Given the description of an element on the screen output the (x, y) to click on. 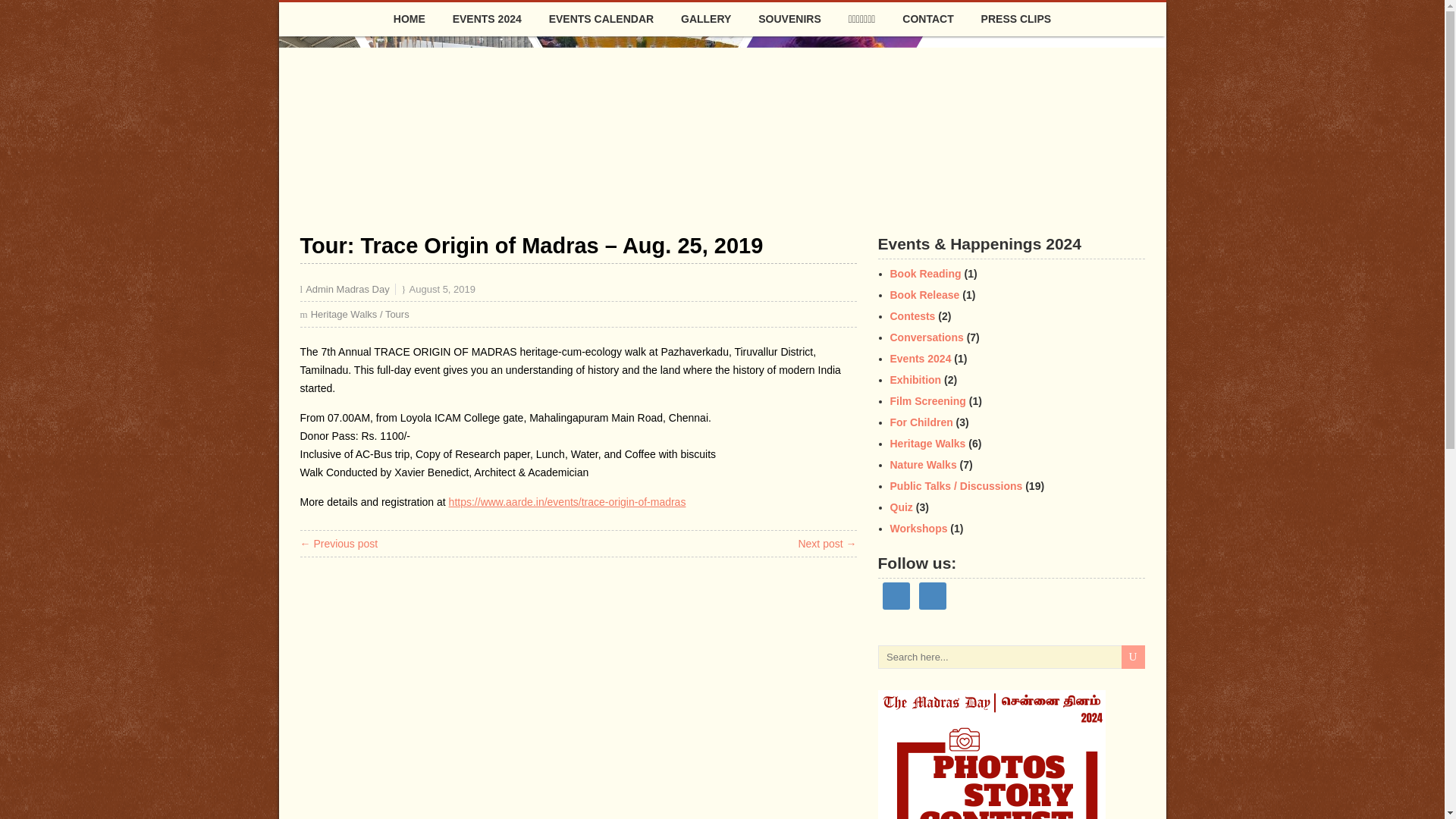
Poetry Challenge for the young - Aug. 10, 2019 (826, 543)
GALLERY (705, 19)
Posts by Admin Madras Day (347, 288)
Events 2024 (920, 358)
U (1132, 657)
Book Release (924, 295)
CONTACT (927, 19)
Nature Walks (922, 464)
U (1132, 657)
PRESS CLIPS (1016, 19)
